Given the description of an element on the screen output the (x, y) to click on. 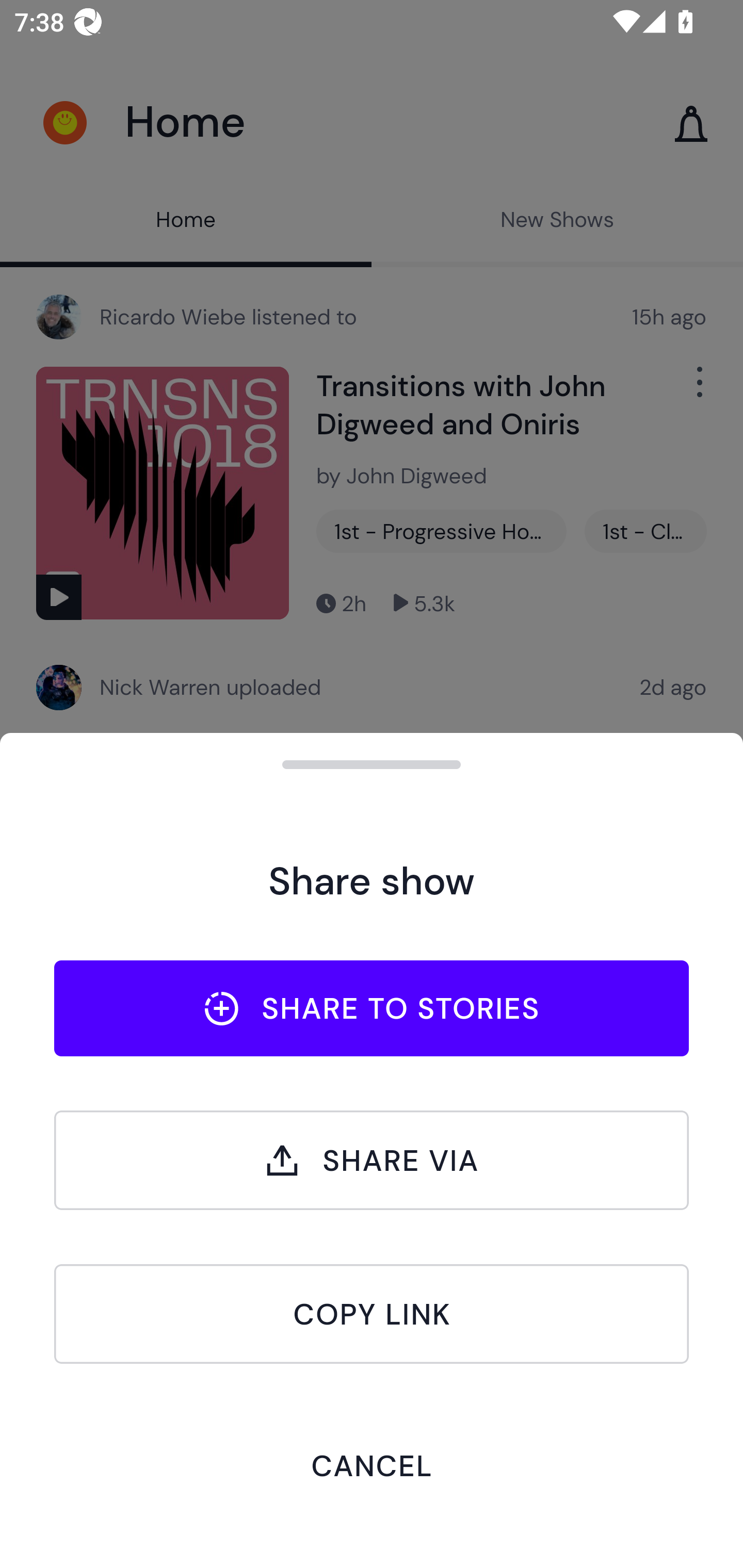
Share to stories SHARE TO STORIES (371, 1007)
Share VIA SHARE VIA (371, 1160)
Copy link COPY LINK (371, 1313)
Cancel CANCEL (371, 1465)
